Given the description of an element on the screen output the (x, y) to click on. 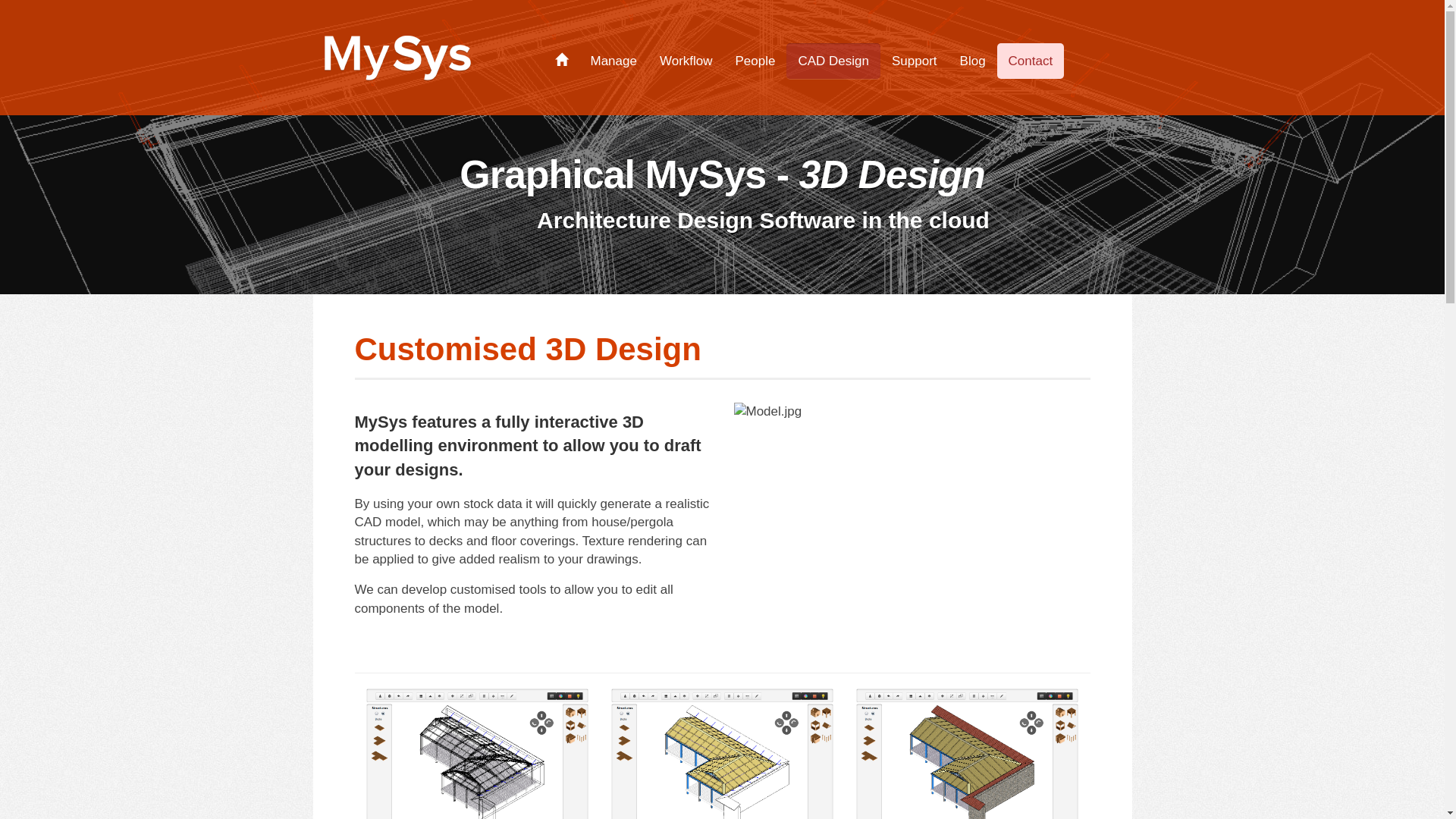
CAD Design Element type: text (833, 60)
Contact Element type: text (1030, 60)
Home Element type: text (561, 60)
Workflow Element type: text (686, 60)
Blog Element type: text (972, 60)
Manage Element type: text (613, 60)
People Element type: text (755, 60)
Customised 3D Design Element type: text (527, 349)
Support Element type: text (914, 60)
